Given the description of an element on the screen output the (x, y) to click on. 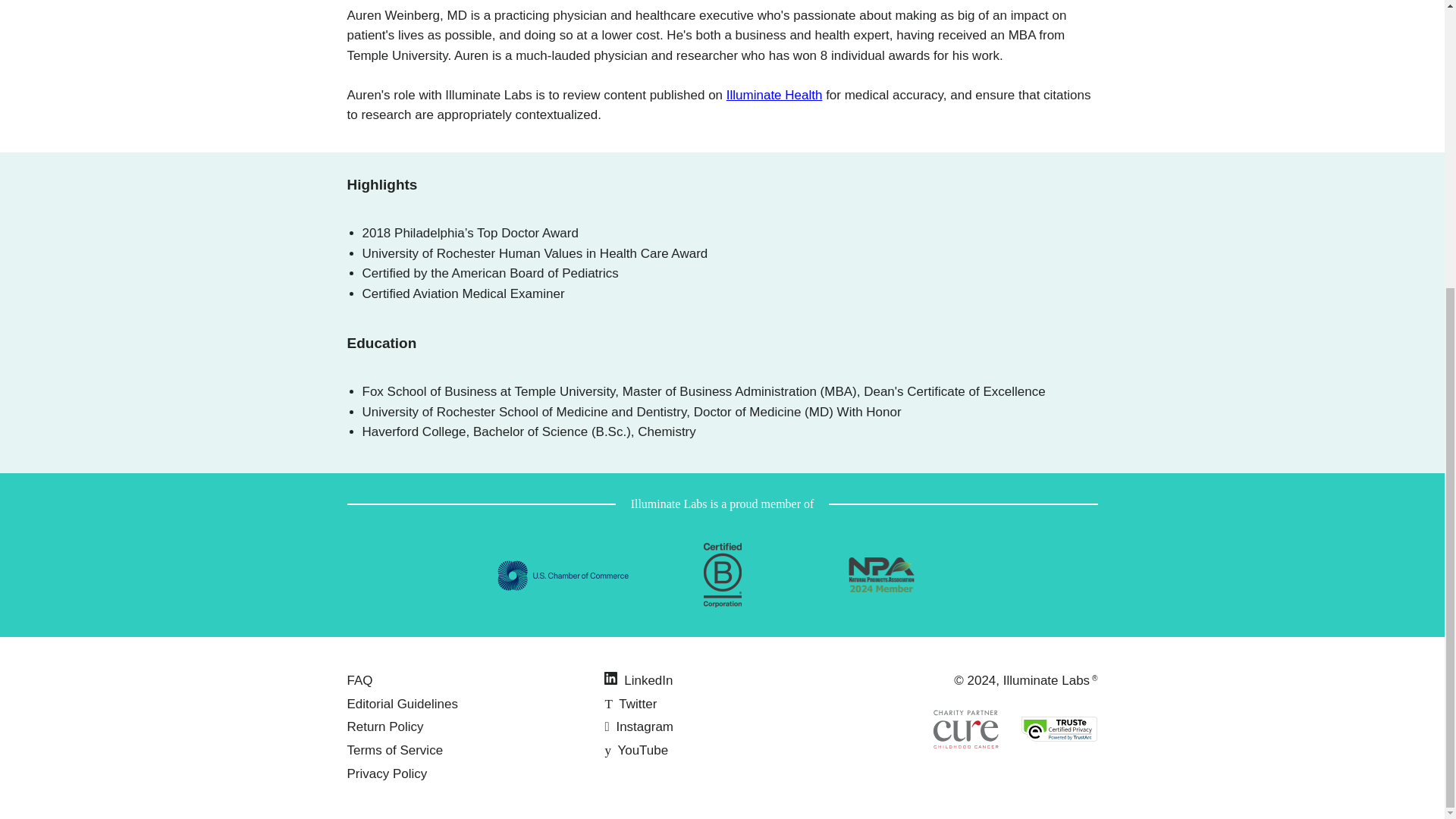
Illuminate Labs on YouTube (636, 749)
Illuminate Labs on Twitter (630, 703)
Terms of Service (395, 749)
Illuminate Labs (1046, 680)
Privacy Policy (387, 773)
FAQ (359, 680)
LinkedIn (638, 680)
Illuminate Labs on Instagram (638, 726)
YouTube (636, 749)
Illuminate Health (774, 94)
Twitter (630, 703)
Illuminate Labs on LinkedIn (638, 680)
Instagram (638, 726)
Return Policy (385, 726)
Editorial Guidelines (402, 703)
